Given the description of an element on the screen output the (x, y) to click on. 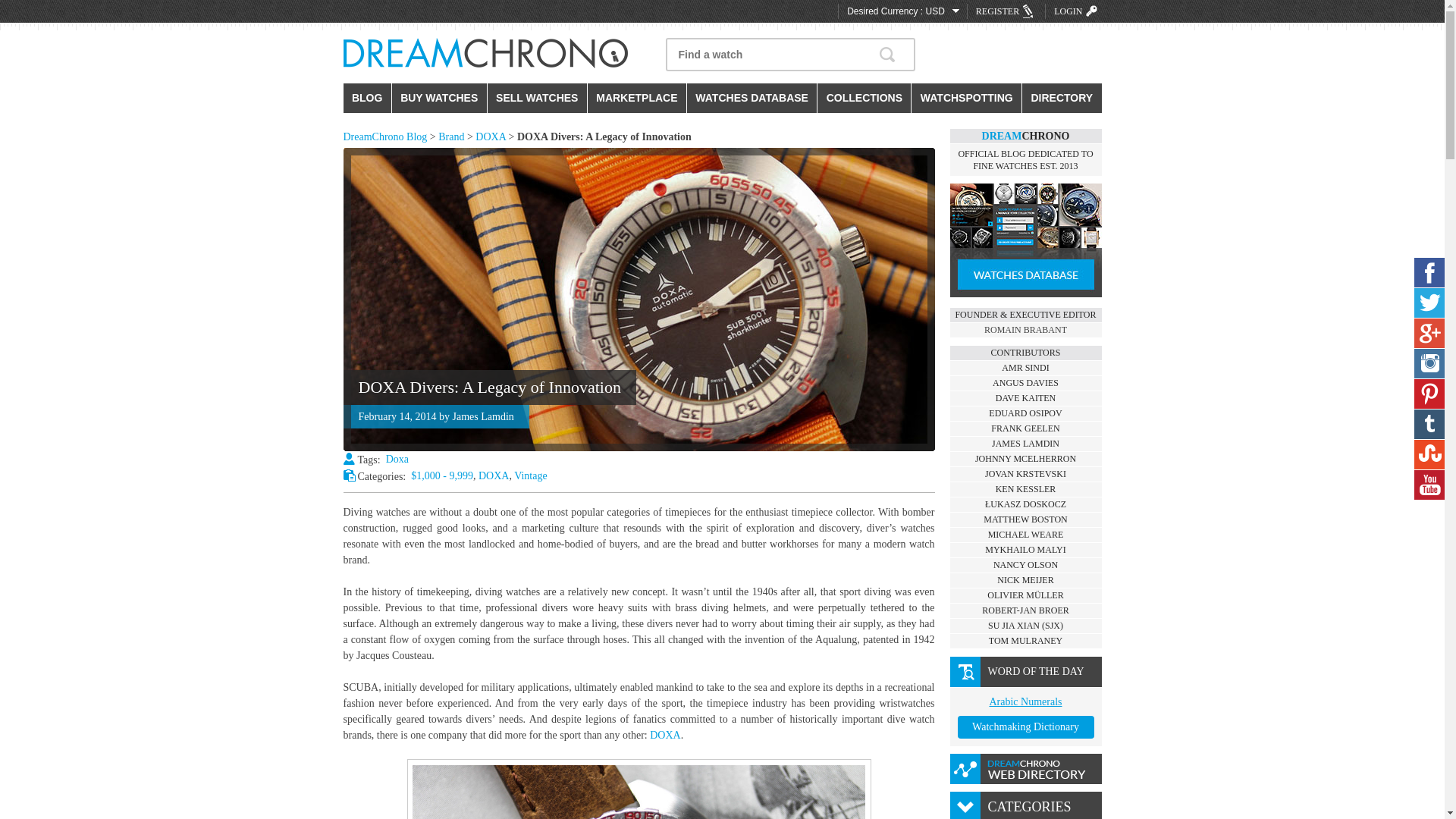
LOGIN (1077, 11)
Vintage (530, 475)
DIRECTORY (1061, 98)
SELL WATCHES (536, 98)
COLLECTIONS (863, 98)
DOXA (664, 735)
WATCHES DATABASE (751, 98)
REGISTER (1006, 11)
DreamChrono Blog (384, 136)
BLOG (366, 98)
BUY WATCHES (438, 98)
Doxa (397, 459)
DOXA (493, 475)
Desired Currency : USD (902, 11)
